Given the description of an element on the screen output the (x, y) to click on. 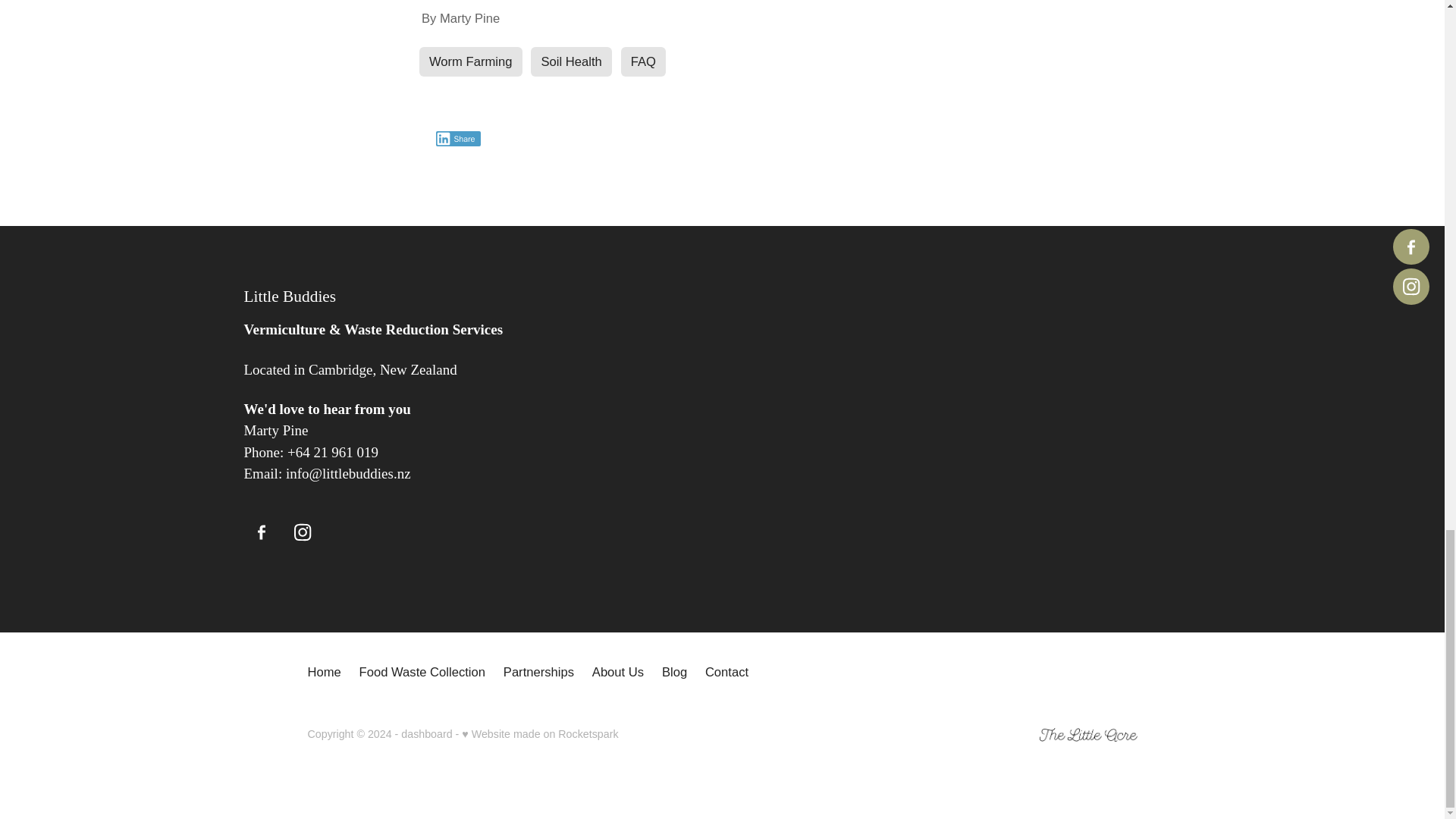
A link to this website's Facebook. (262, 532)
A link to this website's Instagram. (301, 532)
Share (457, 138)
Food Waste Collection (422, 672)
